Given the description of an element on the screen output the (x, y) to click on. 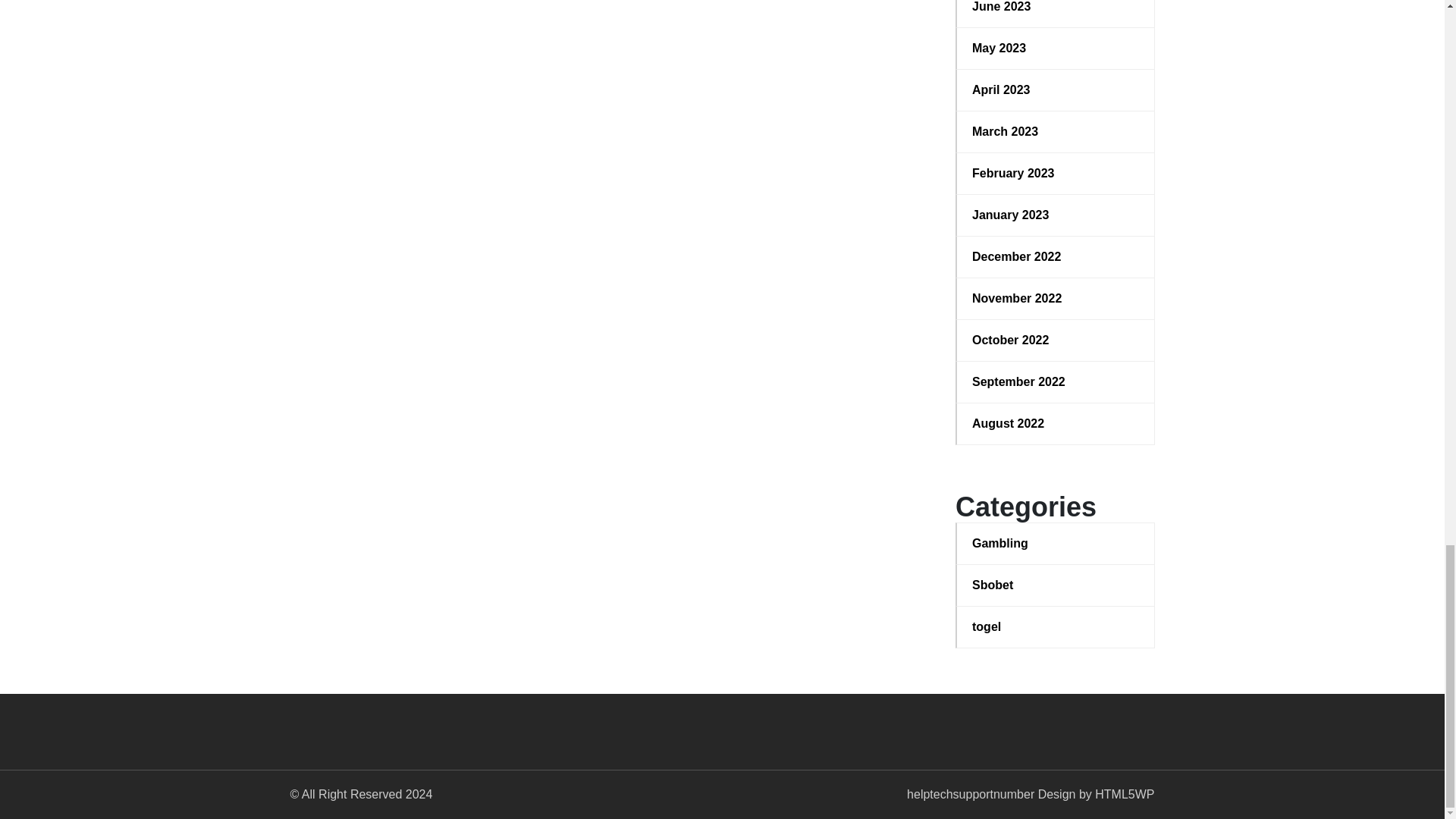
June 2023 (1055, 7)
January 2023 (1055, 215)
December 2022 (1055, 257)
November 2022 (1055, 298)
May 2023 (1055, 48)
March 2023 (1055, 131)
February 2023 (1055, 173)
April 2023 (1055, 90)
October 2022 (1055, 340)
